Given the description of an element on the screen output the (x, y) to click on. 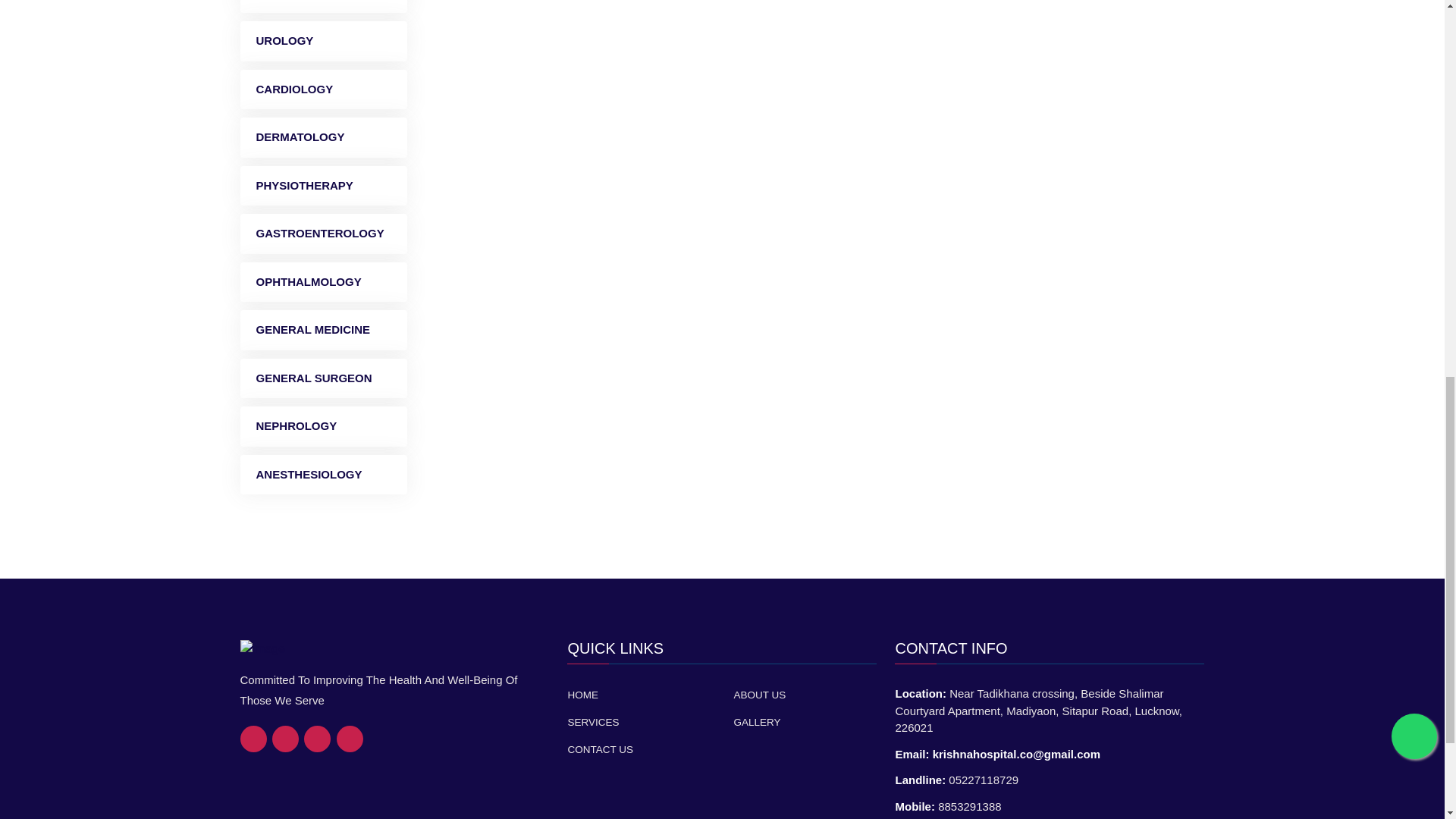
DERMATOLOGY (323, 137)
UROLOGY (323, 41)
ORTHOPAEDICS (323, 6)
CARDIOLOGY (323, 89)
